Given the description of an element on the screen output the (x, y) to click on. 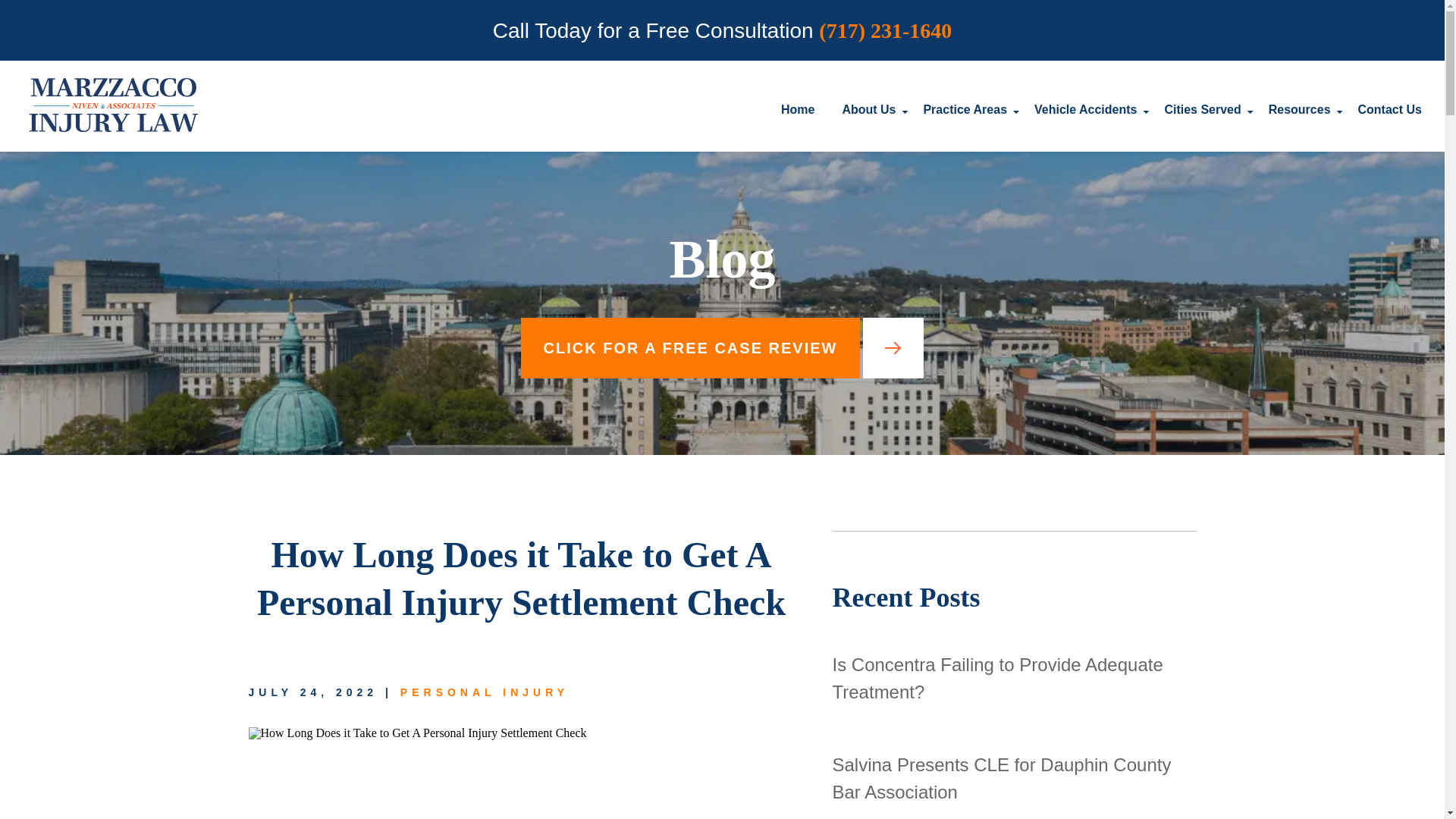
Practice Areas (965, 105)
CLICK FOR A FREE CASE REVIEW (722, 346)
Vehicle Accidents (1085, 105)
